Given the description of an element on the screen output the (x, y) to click on. 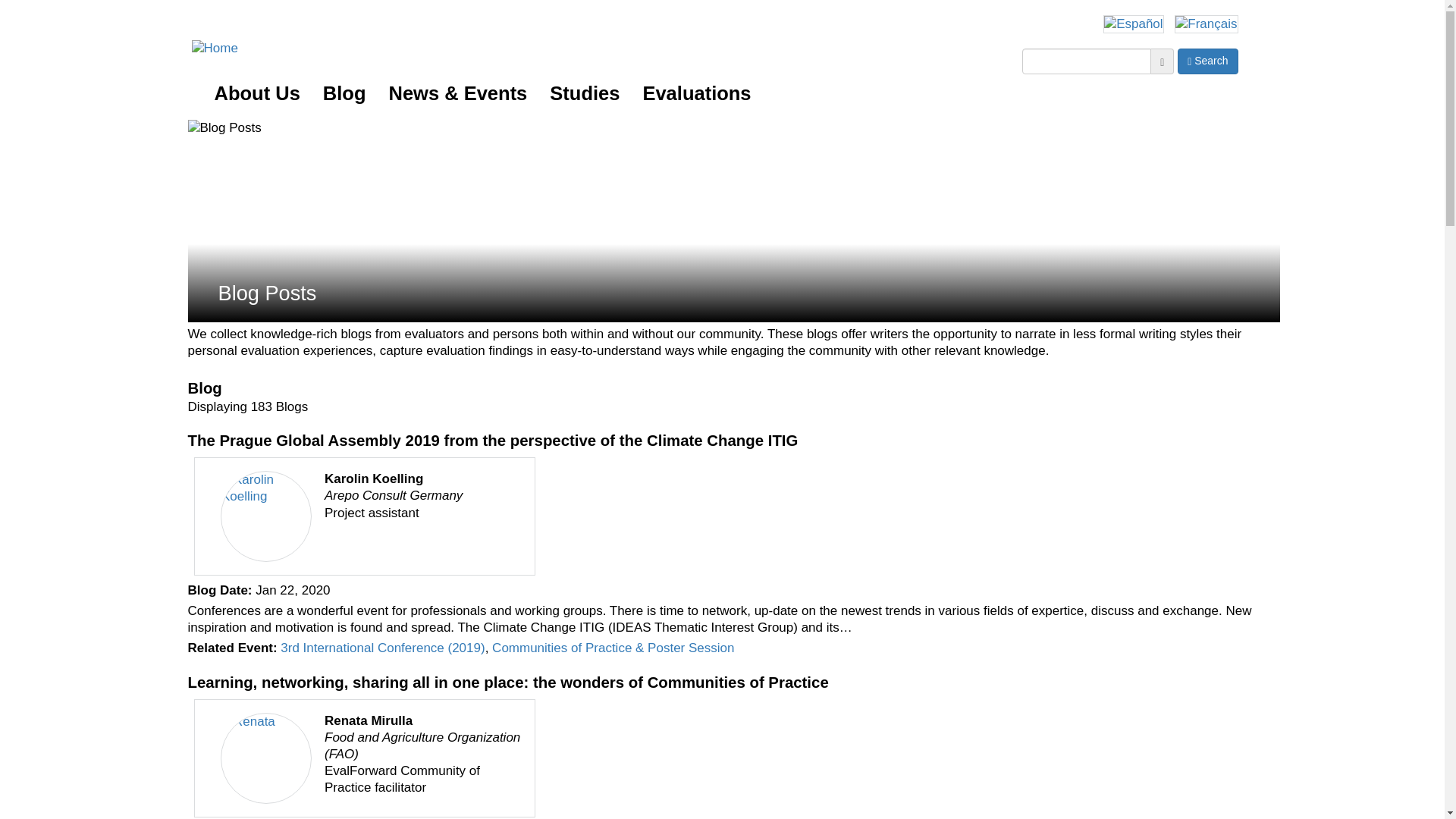
Evaluations (695, 93)
Renata (266, 757)
Home (206, 47)
Search (1207, 61)
About Us (257, 93)
Blog (344, 93)
